Given the description of an element on the screen output the (x, y) to click on. 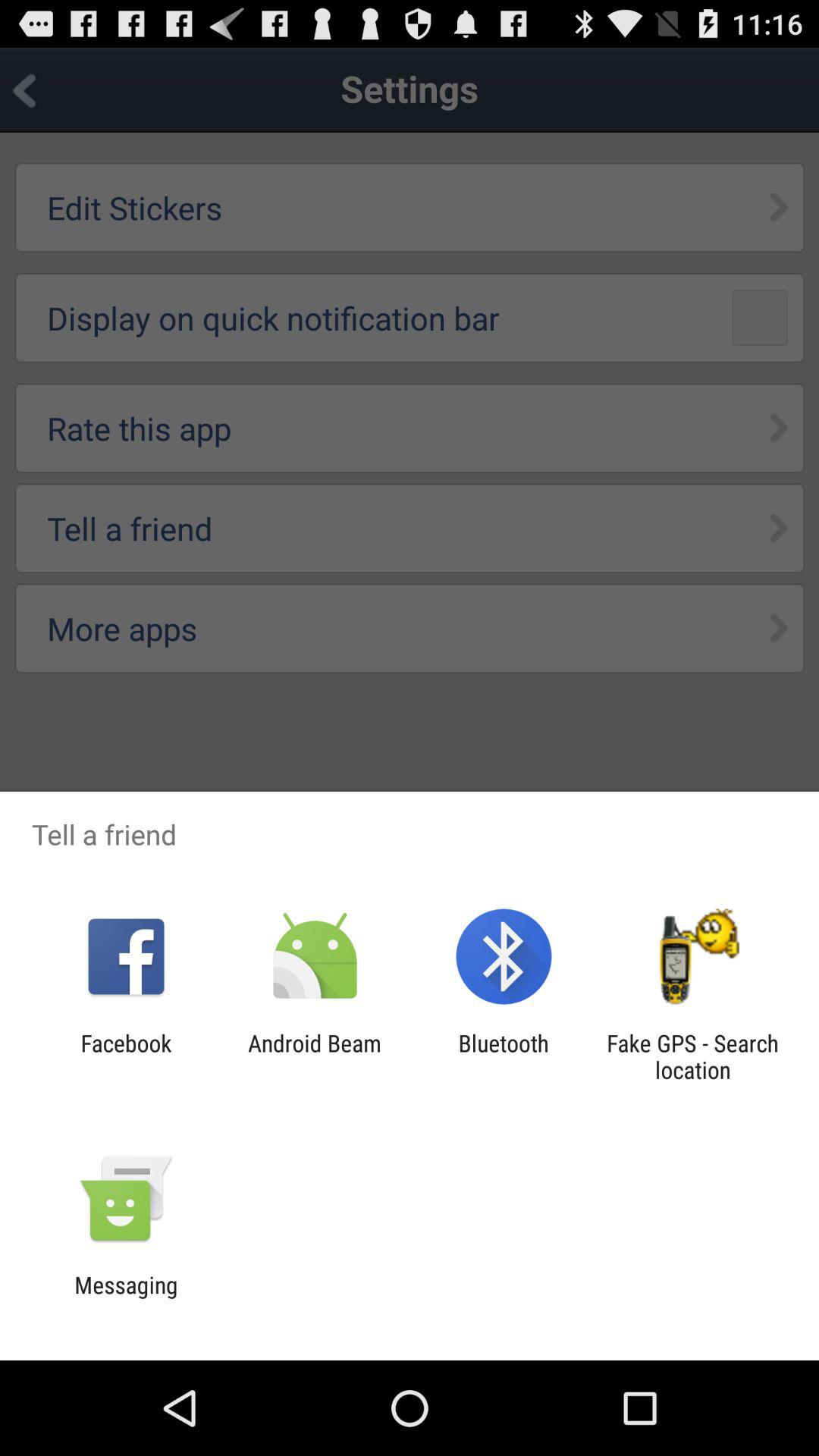
press app next to bluetooth (692, 1056)
